Given the description of an element on the screen output the (x, y) to click on. 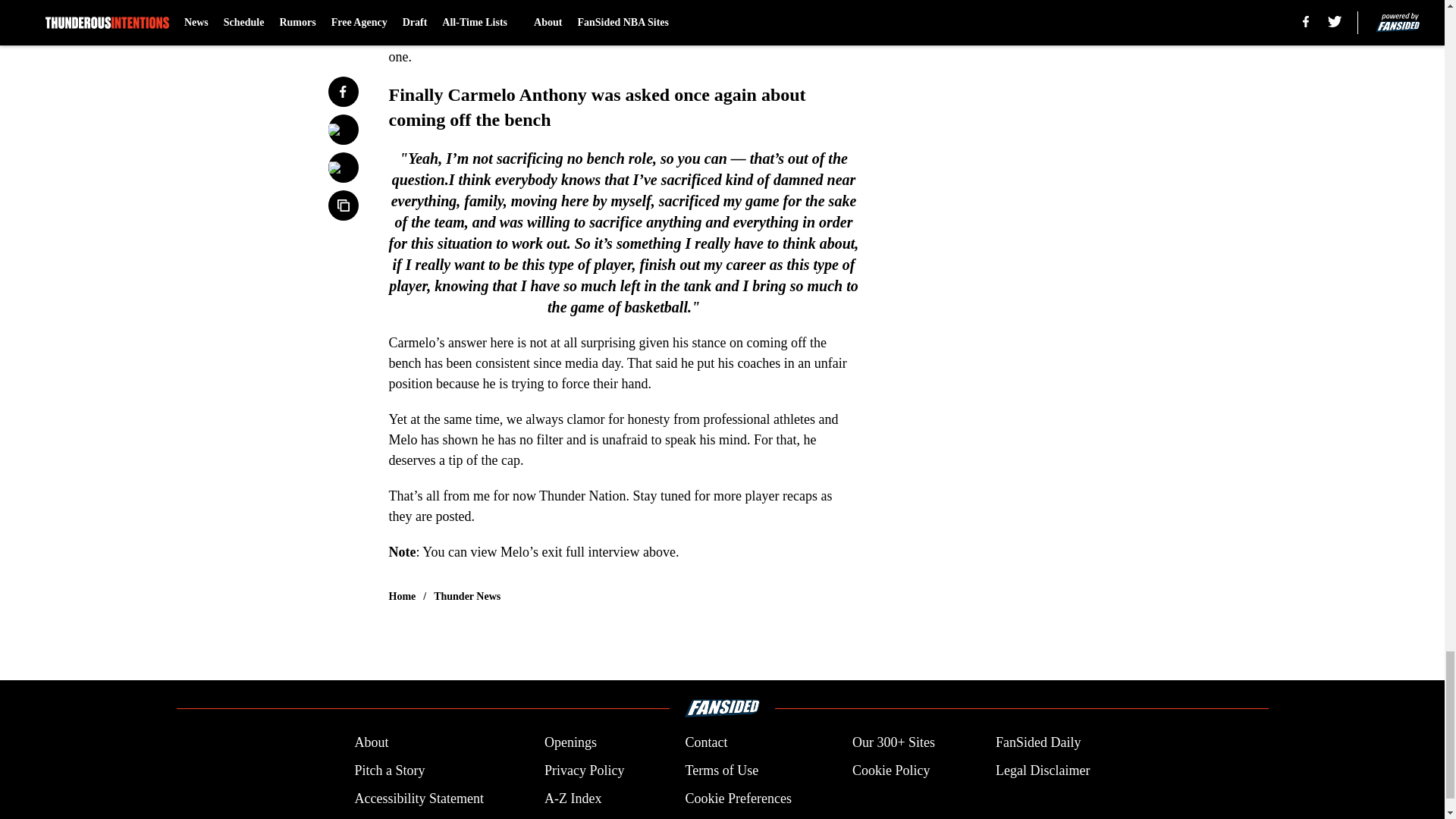
Home (401, 596)
Terms of Use (721, 770)
Contact (705, 742)
Privacy Policy (584, 770)
About (370, 742)
FanSided Daily (1038, 742)
Pitch a Story (389, 770)
Cookie Policy (890, 770)
Openings (570, 742)
Thunder News (466, 596)
